Given the description of an element on the screen output the (x, y) to click on. 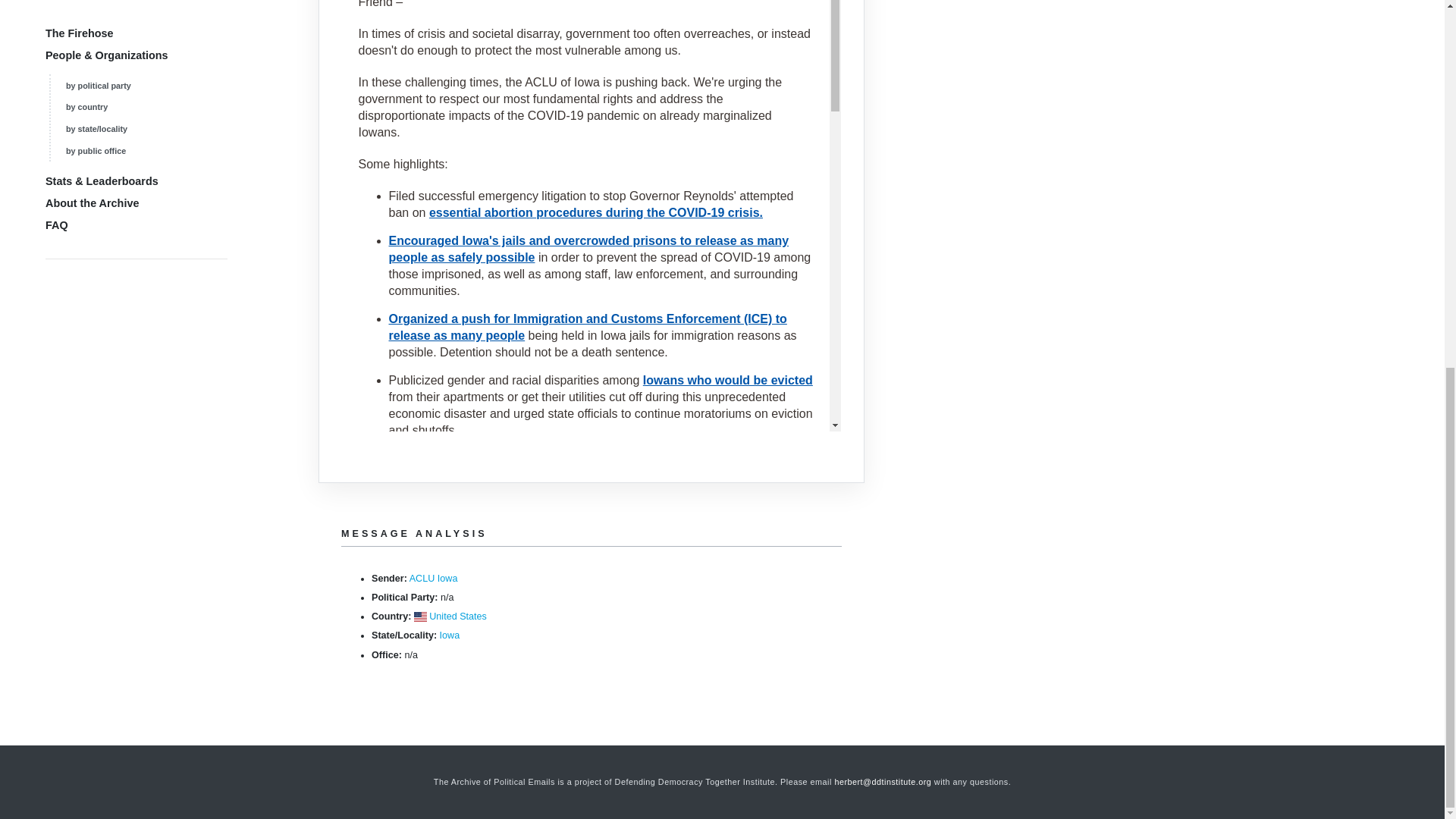
United States (457, 615)
Iowa (449, 634)
ACLU Iowa (433, 578)
